Given the description of an element on the screen output the (x, y) to click on. 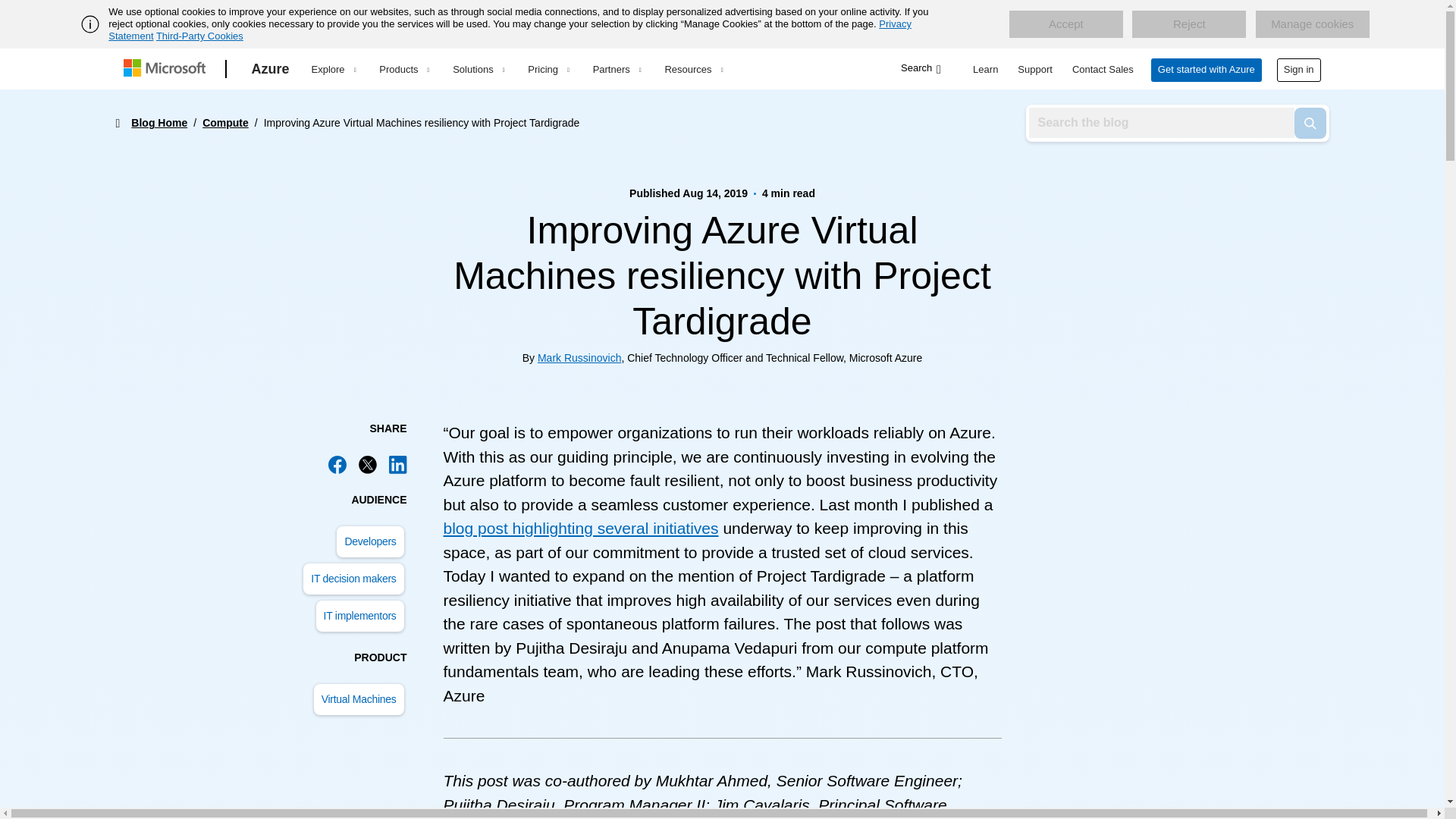
Manage cookies (1312, 23)
Reject (1189, 23)
Accept (1065, 23)
Products (403, 69)
Explore (333, 69)
Privacy Statement (509, 29)
Third-Party Cookies (199, 35)
Azure (270, 69)
Microsoft (167, 69)
